Given the description of an element on the screen output the (x, y) to click on. 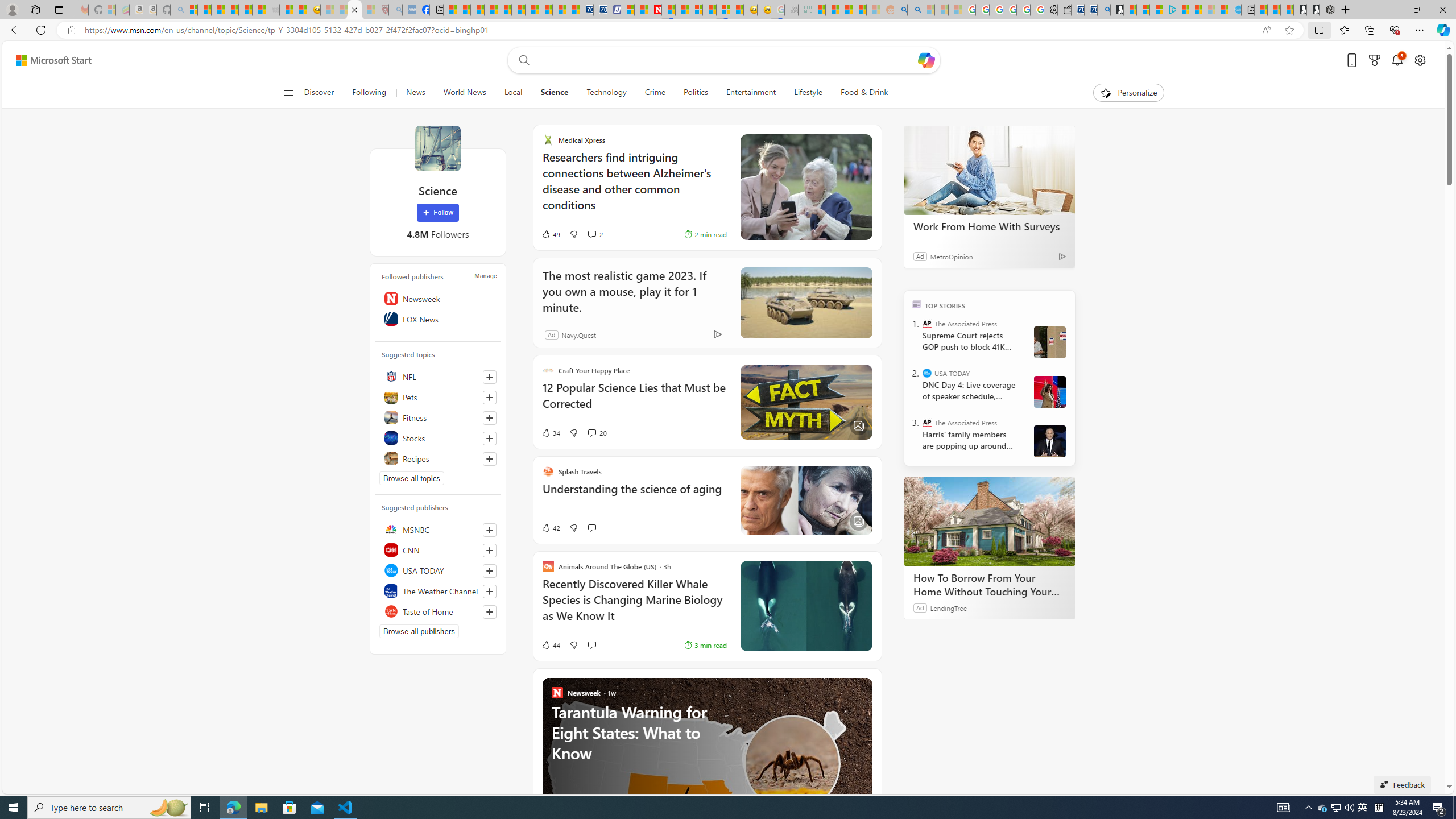
World - MSN (477, 9)
